Given the description of an element on the screen output the (x, y) to click on. 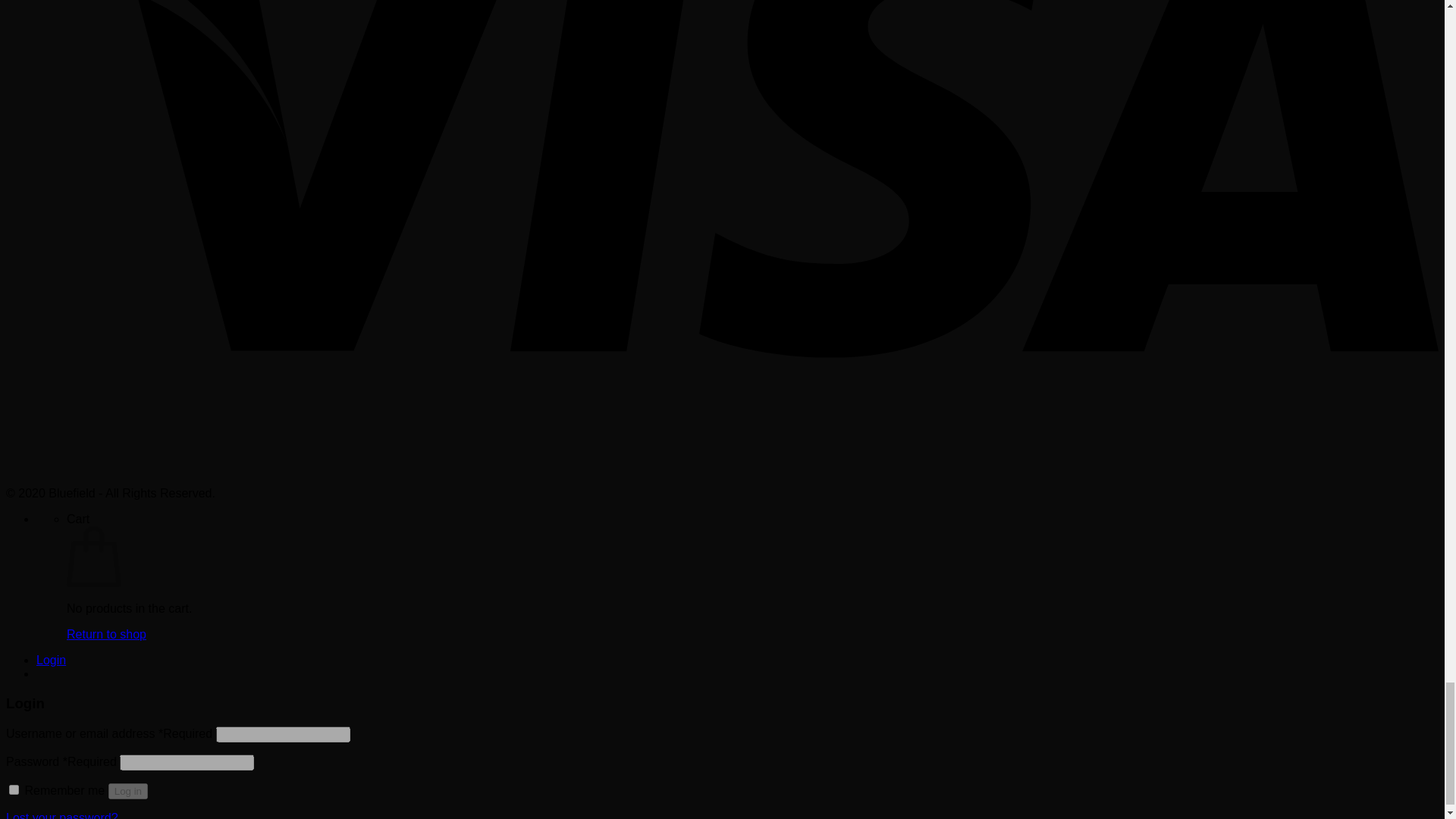
Login (50, 659)
Login (50, 659)
forever (13, 789)
Return to shop (106, 634)
